Given the description of an element on the screen output the (x, y) to click on. 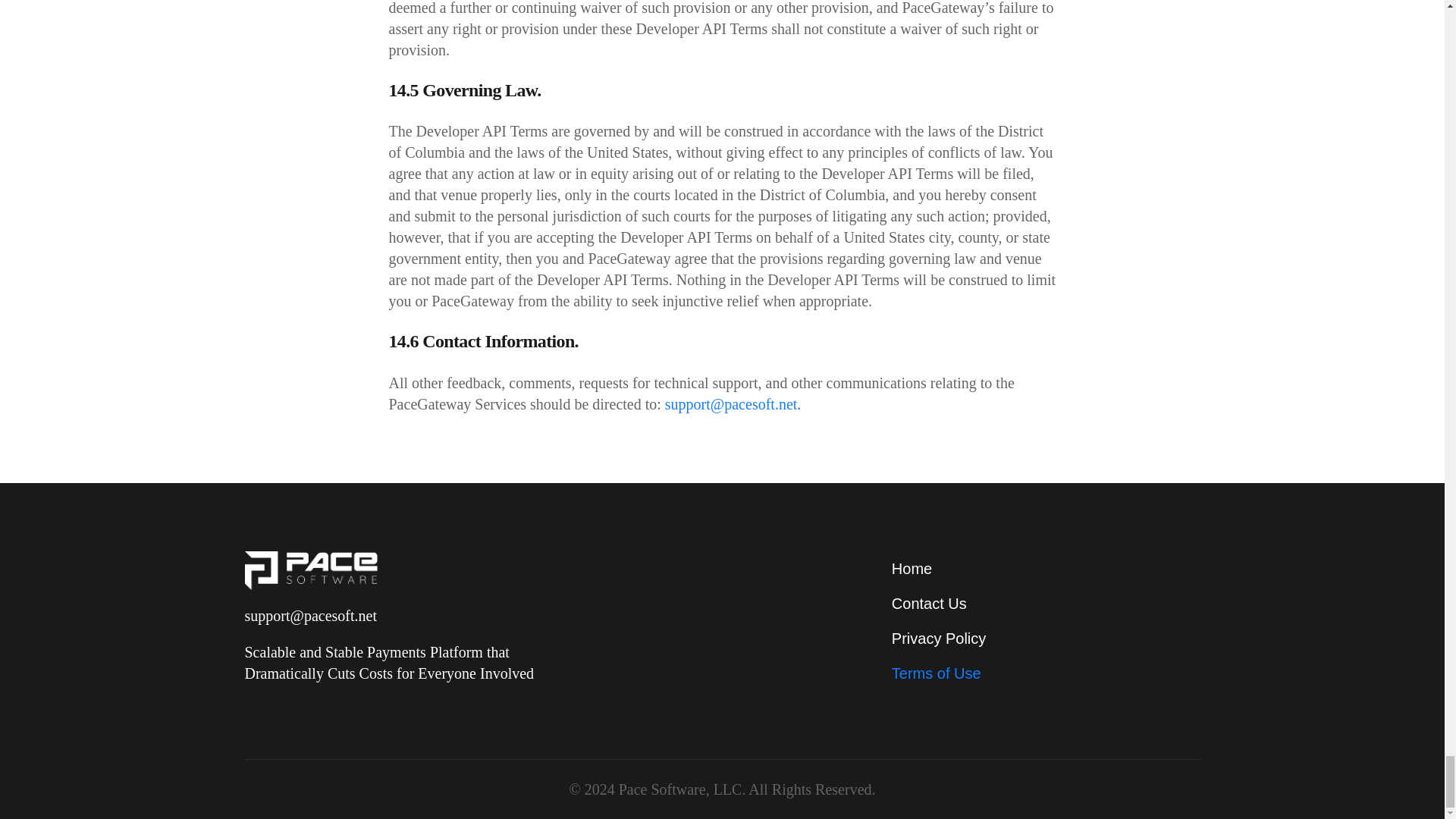
Home (1045, 568)
Contact Us (1045, 603)
Terms of Use (1045, 673)
Privacy Policy (1045, 638)
